Given the description of an element on the screen output the (x, y) to click on. 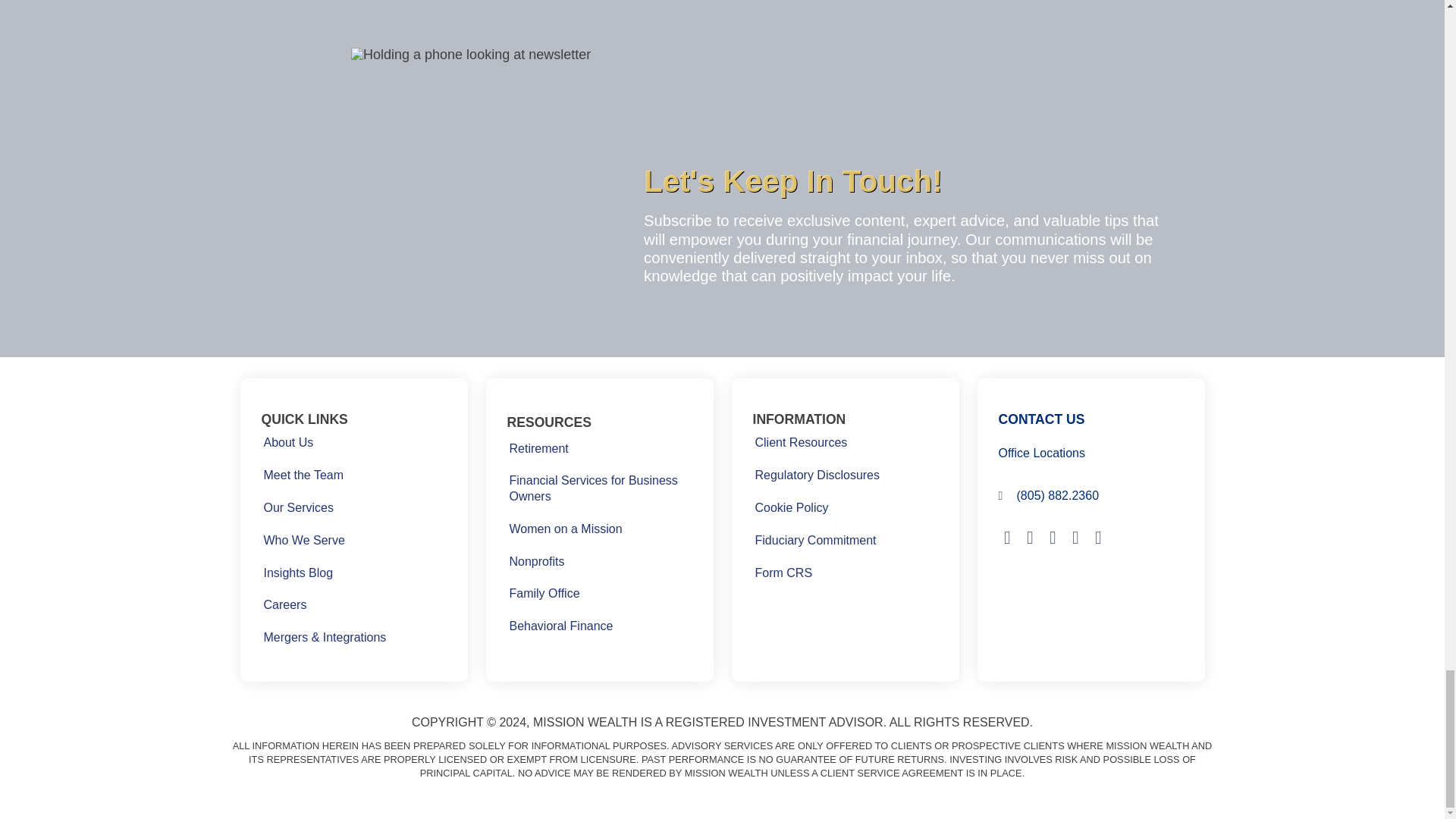
Who We Serve (303, 540)
Meet the Team (303, 476)
Careers (284, 605)
Client Resources (800, 443)
Retirement (538, 448)
Insights Blog (297, 573)
Family Office (543, 593)
Financial Services for Business Owners (598, 488)
Our Services (297, 507)
Women on a Mission (565, 529)
